Given the description of an element on the screen output the (x, y) to click on. 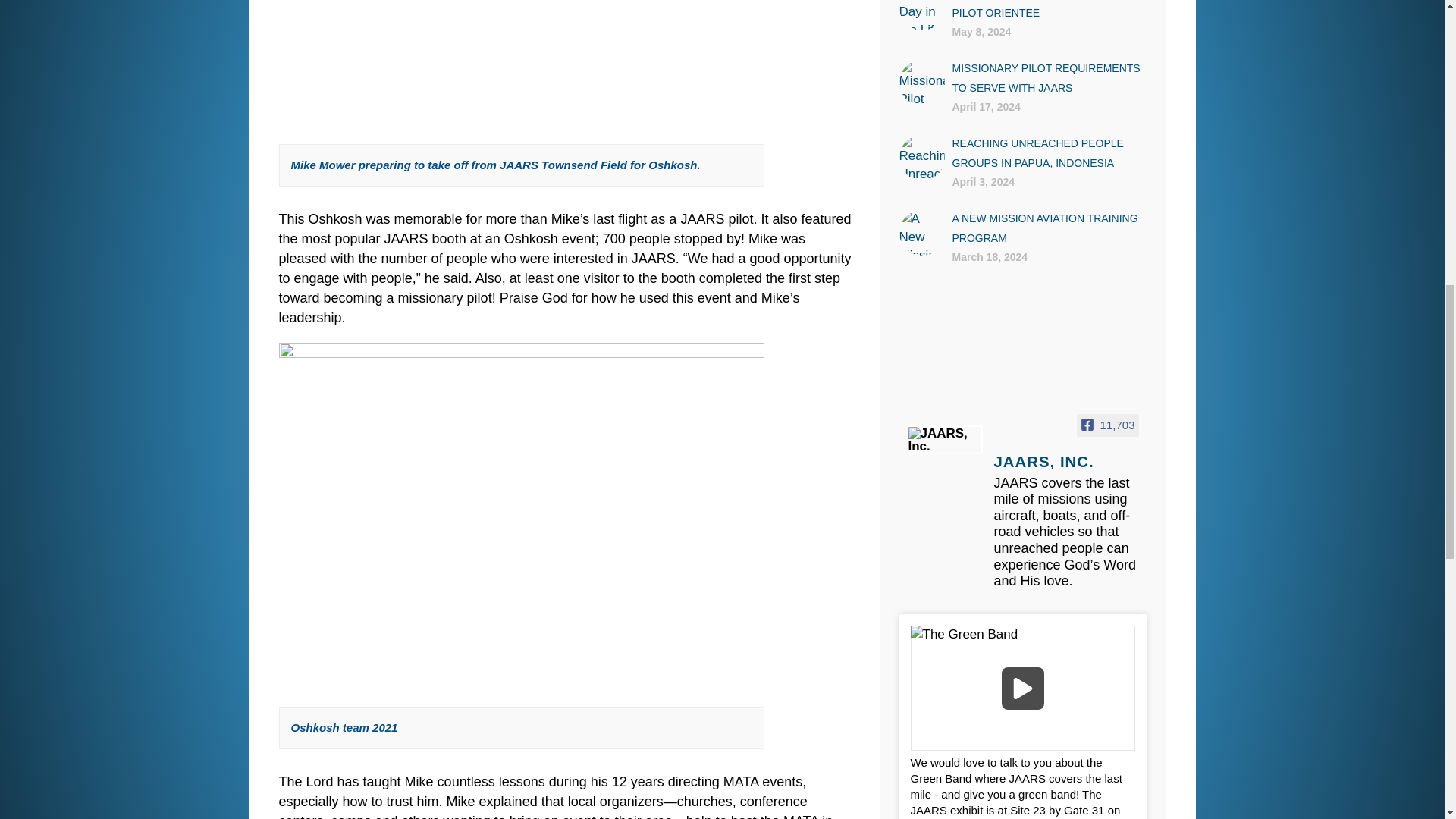
JAARS, Inc. (944, 439)
JAARS, Inc. (1047, 462)
